Given the description of an element on the screen output the (x, y) to click on. 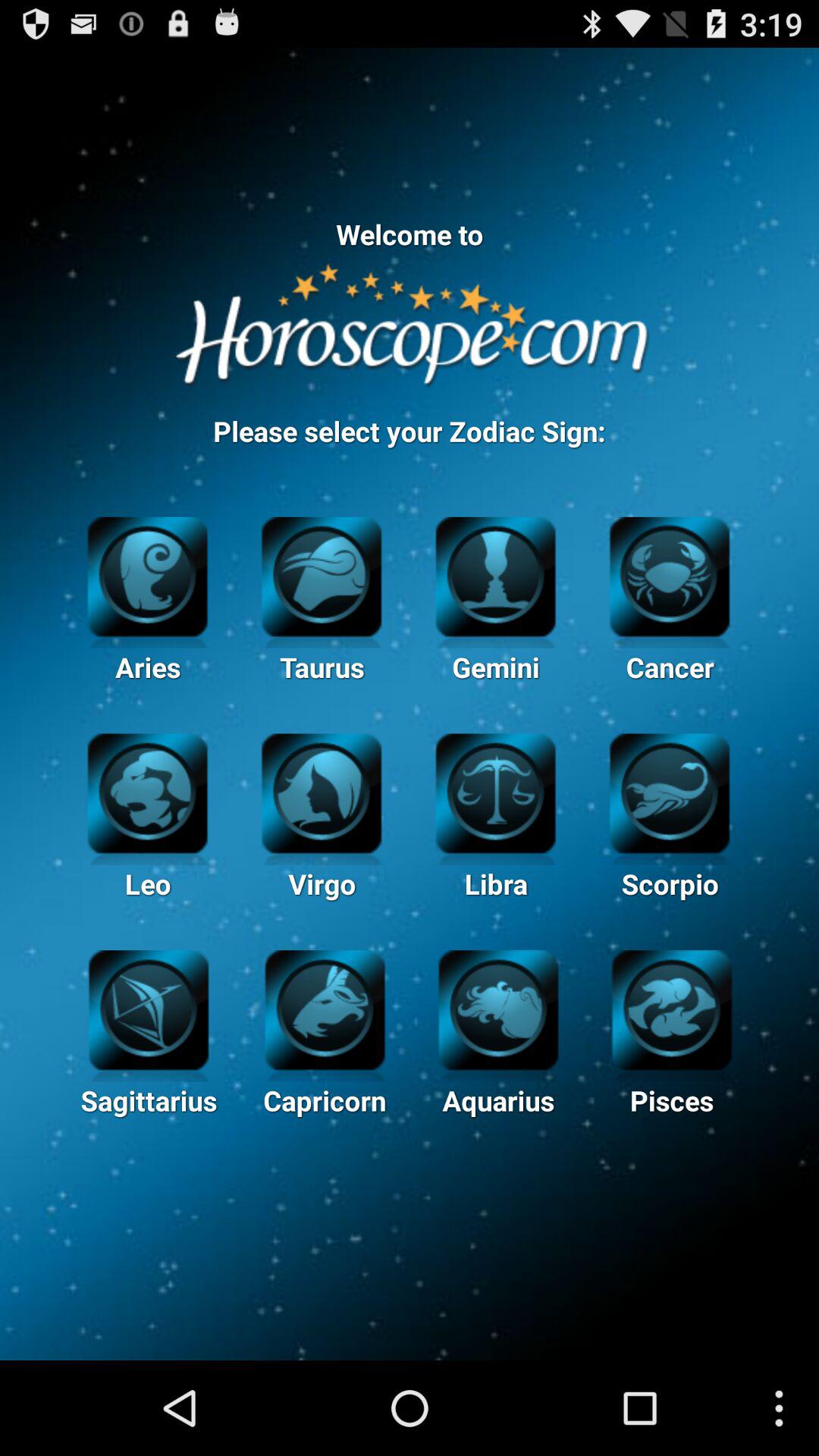
select the cancer option (669, 574)
